Given the description of an element on the screen output the (x, y) to click on. 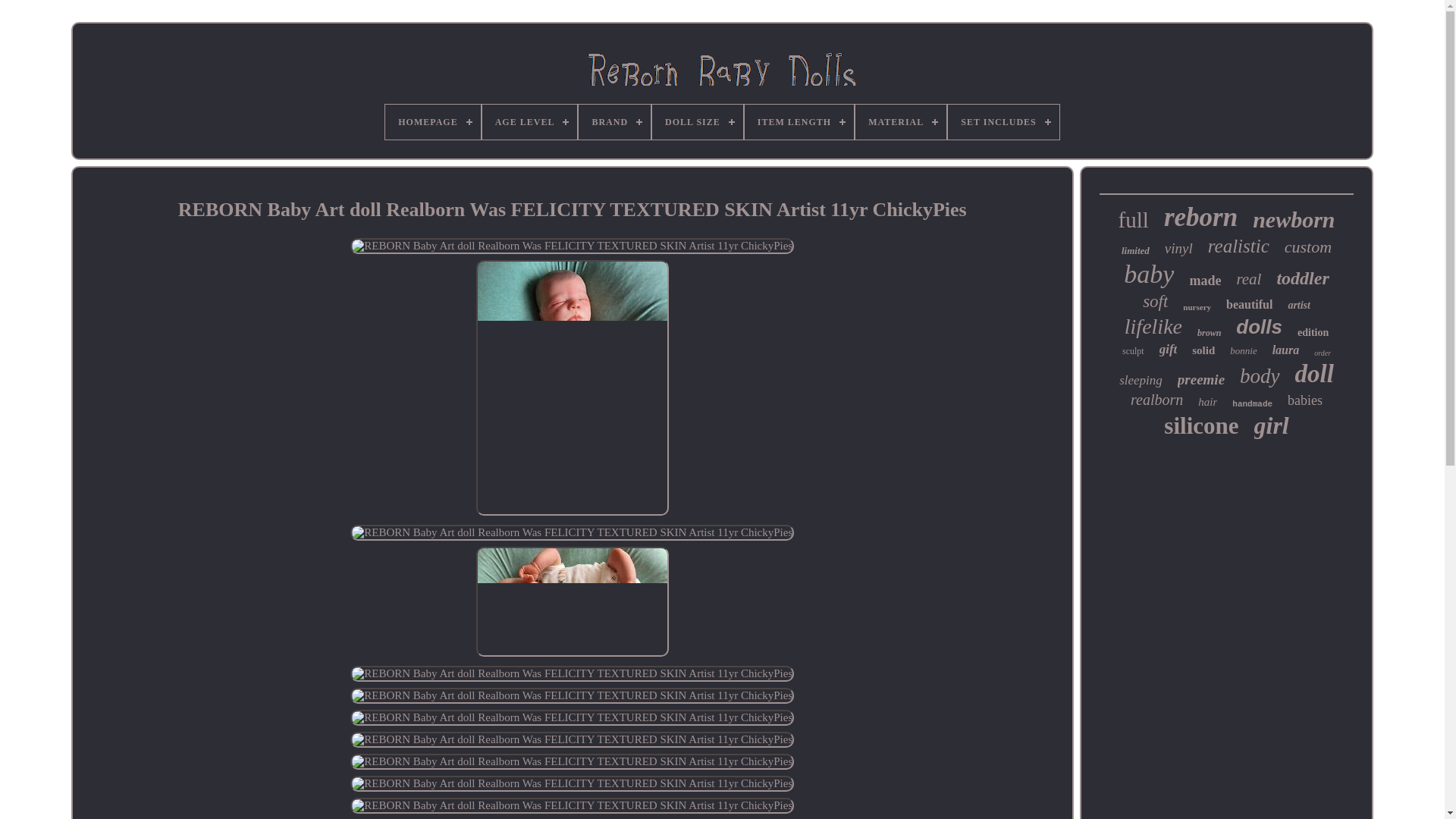
AGE LEVEL (529, 121)
HOMEPAGE (432, 121)
BRAND (614, 121)
